Given the description of an element on the screen output the (x, y) to click on. 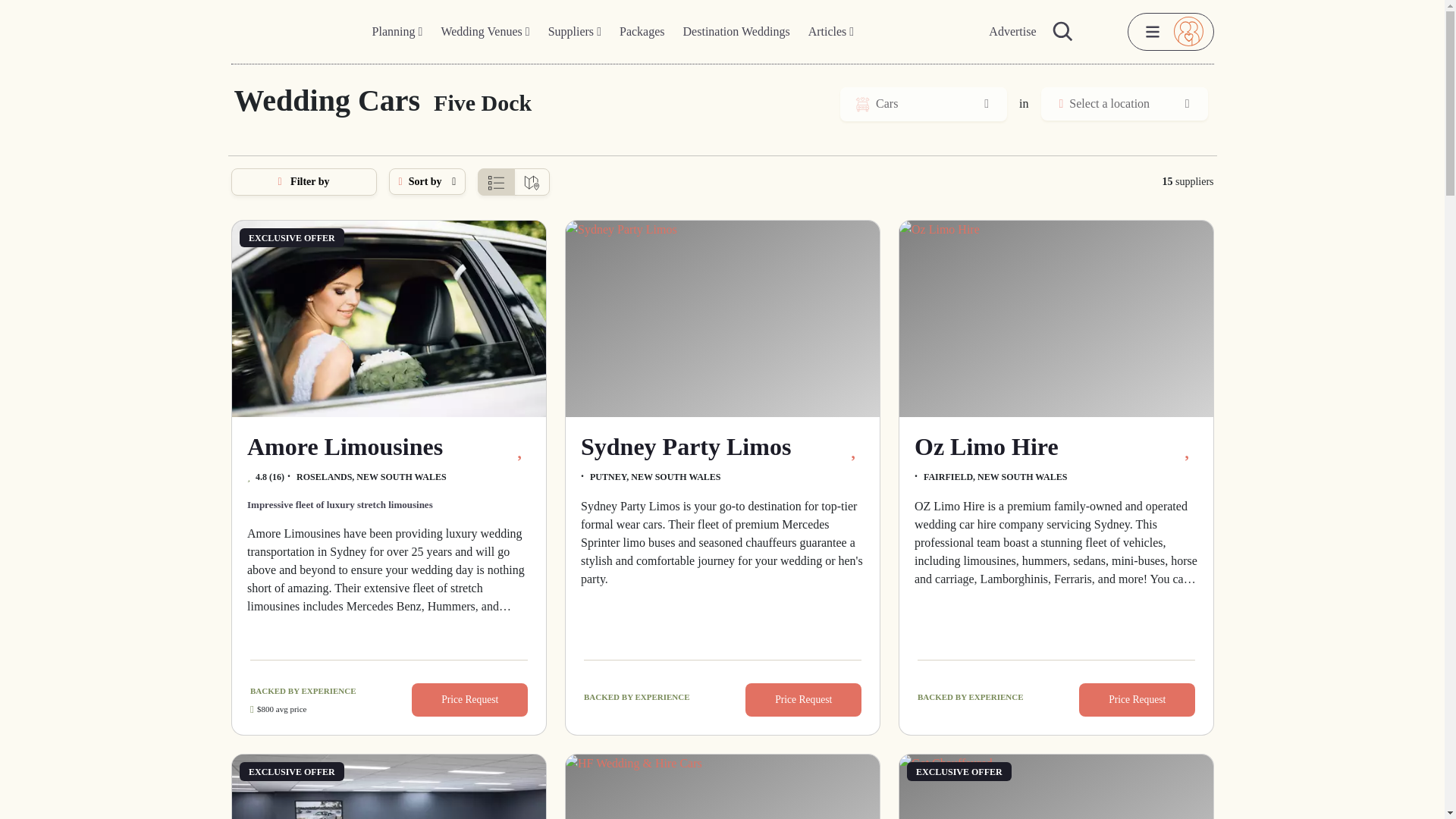
Planning (397, 31)
Advertise (1012, 31)
Suppliers (574, 31)
Oz Limo Hire (1055, 318)
Packages (641, 31)
Destination Weddings (736, 31)
Articles (831, 31)
Amore Limousines (388, 318)
Get Chauffeured (1055, 786)
Sydney Party Limos (722, 318)
Astra Limousines and Wedding Cars (388, 786)
Wedding Venues (484, 31)
